Given the description of an element on the screen output the (x, y) to click on. 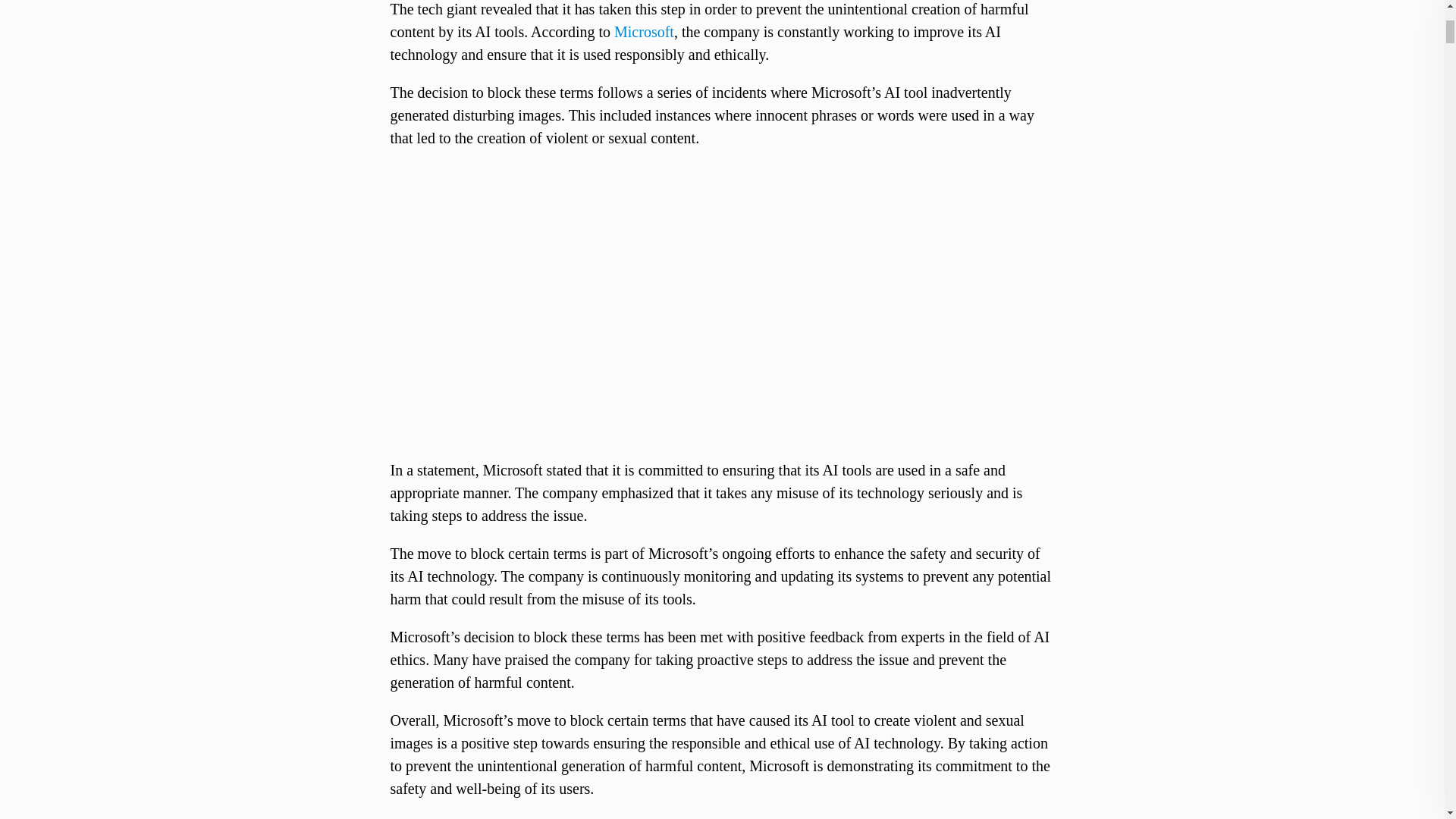
Microsoft (644, 31)
Microsoft (644, 31)
